Given the description of an element on the screen output the (x, y) to click on. 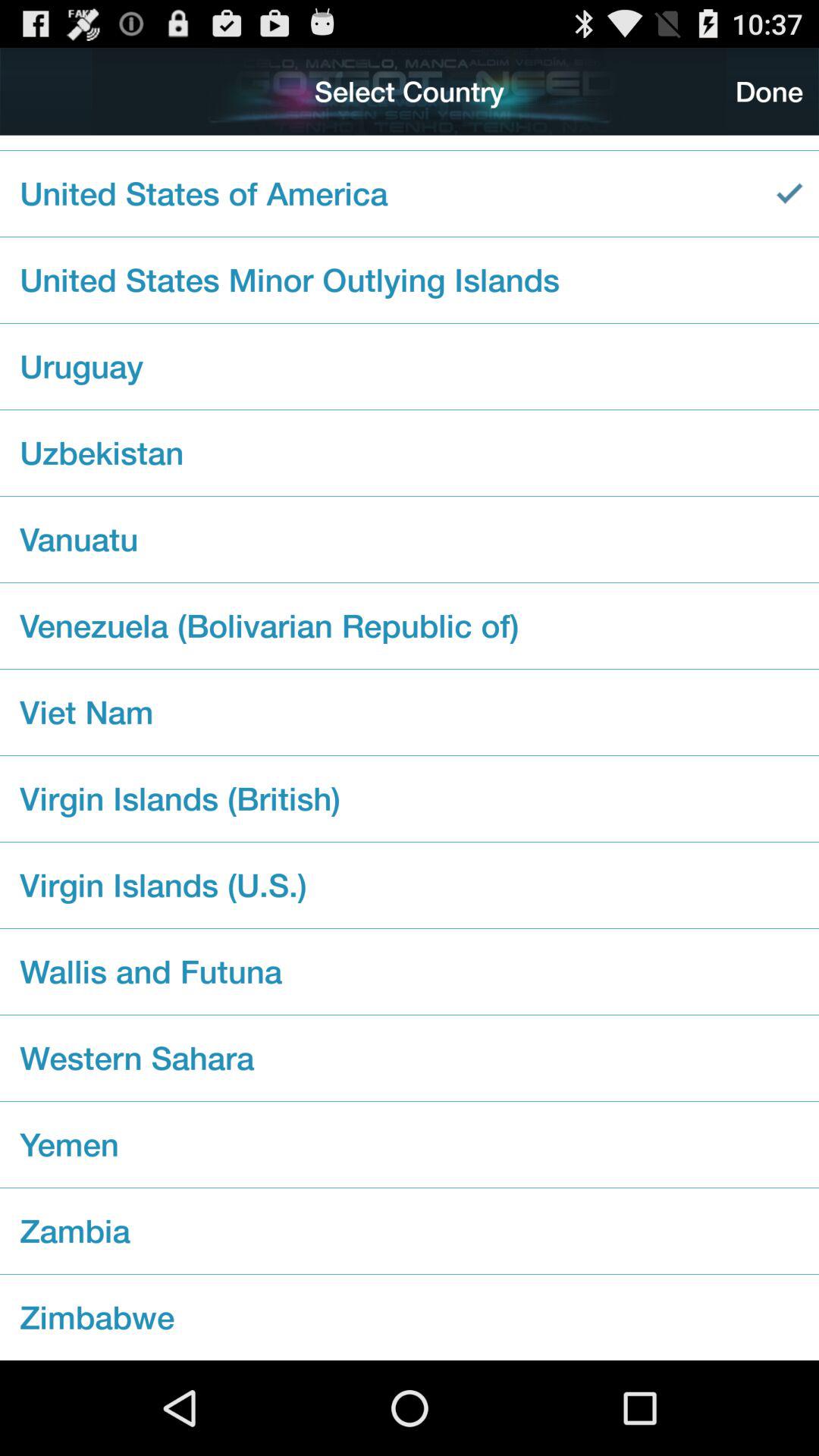
tap the checkbox below yemen checkbox (409, 1231)
